Given the description of an element on the screen output the (x, y) to click on. 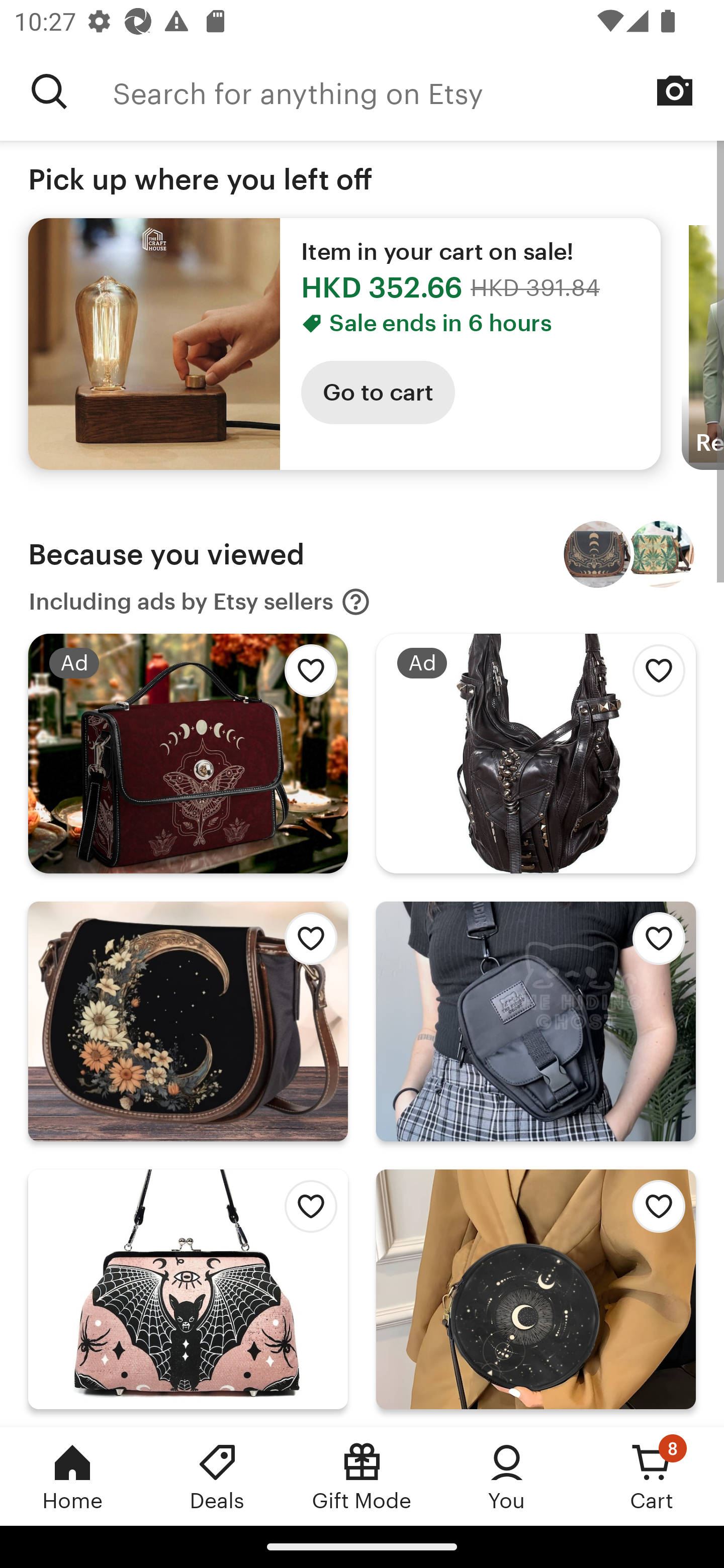
Search for anything on Etsy (49, 91)
Search by image (674, 90)
Search for anything on Etsy (418, 91)
Including ads by Etsy sellers (199, 601)
Deals (216, 1475)
Gift Mode (361, 1475)
You (506, 1475)
Cart, 8 new notifications Cart (651, 1475)
